Given the description of an element on the screen output the (x, y) to click on. 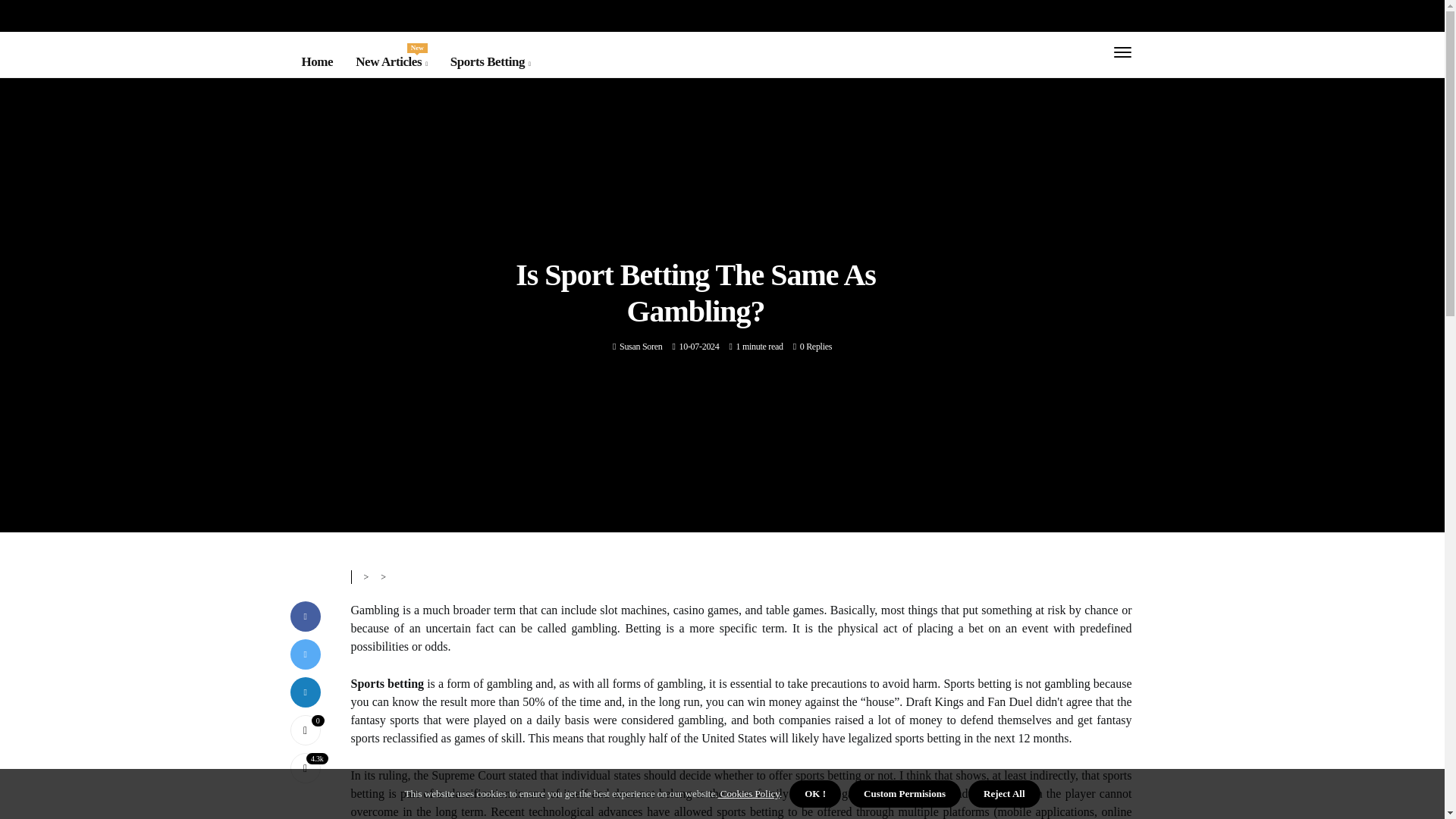
Like (304, 729)
Posts by Susan Soren (641, 346)
Sports Betting (390, 61)
